Given the description of an element on the screen output the (x, y) to click on. 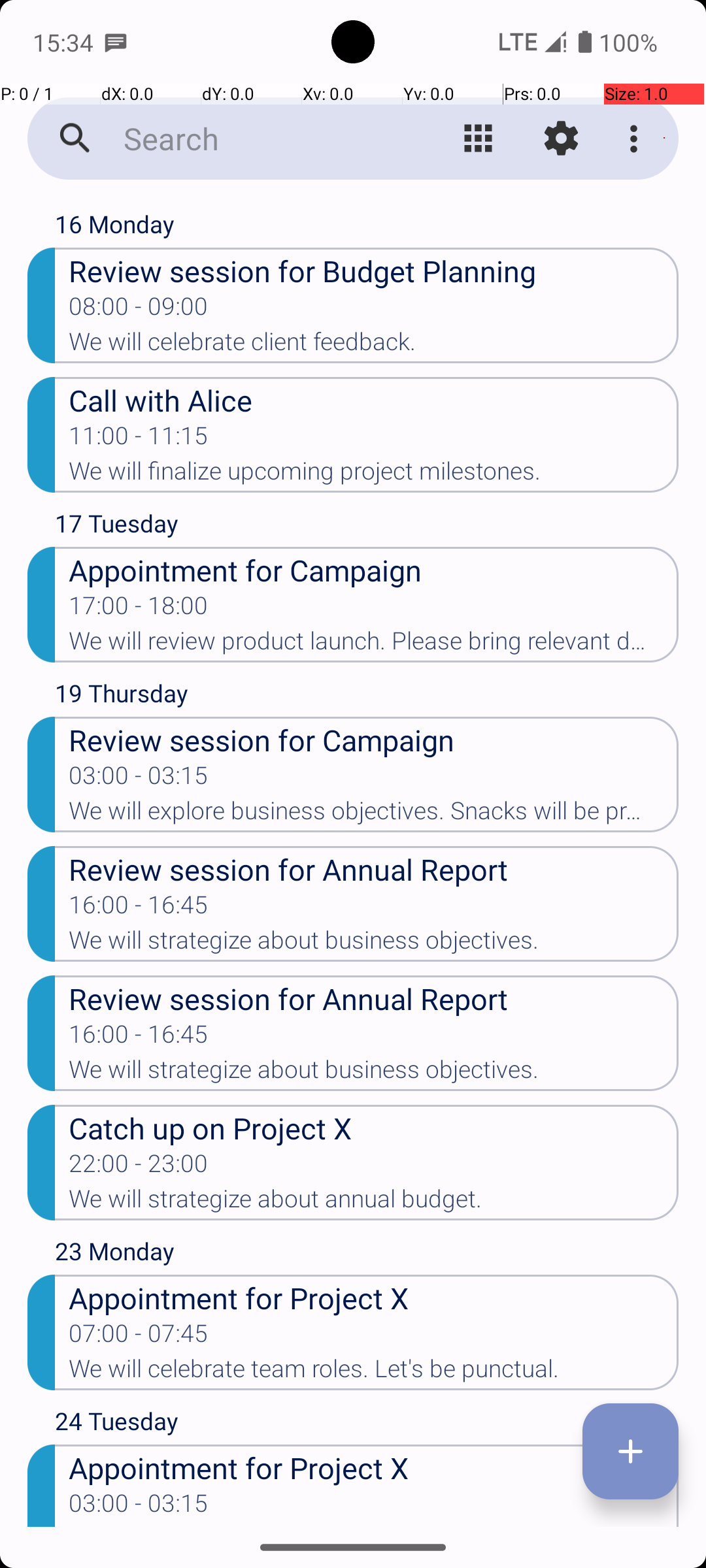
23 Monday Element type: android.widget.TextView (366, 1254)
24 Tuesday Element type: android.widget.TextView (366, 1424)
08:00 - 09:00 Element type: android.widget.TextView (137, 309)
We will celebrate client feedback. Element type: android.widget.TextView (373, 345)
11:00 - 11:15 Element type: android.widget.TextView (137, 439)
We will finalize upcoming project milestones. Element type: android.widget.TextView (373, 474)
17:00 - 18:00 Element type: android.widget.TextView (137, 609)
We will review product launch. Please bring relevant documents. Element type: android.widget.TextView (373, 644)
03:00 - 03:15 Element type: android.widget.TextView (137, 779)
We will explore business objectives. Snacks will be provided. Element type: android.widget.TextView (373, 814)
16:00 - 16:45 Element type: android.widget.TextView (137, 908)
We will strategize about business objectives. Element type: android.widget.TextView (373, 943)
22:00 - 23:00 Element type: android.widget.TextView (137, 1167)
We will strategize about annual budget. Element type: android.widget.TextView (373, 1202)
07:00 - 07:45 Element type: android.widget.TextView (137, 1337)
We will celebrate team roles. Let's be punctual. Element type: android.widget.TextView (373, 1372)
We will prepare for software updates. Element type: android.widget.TextView (373, 1525)
